Given the description of an element on the screen output the (x, y) to click on. 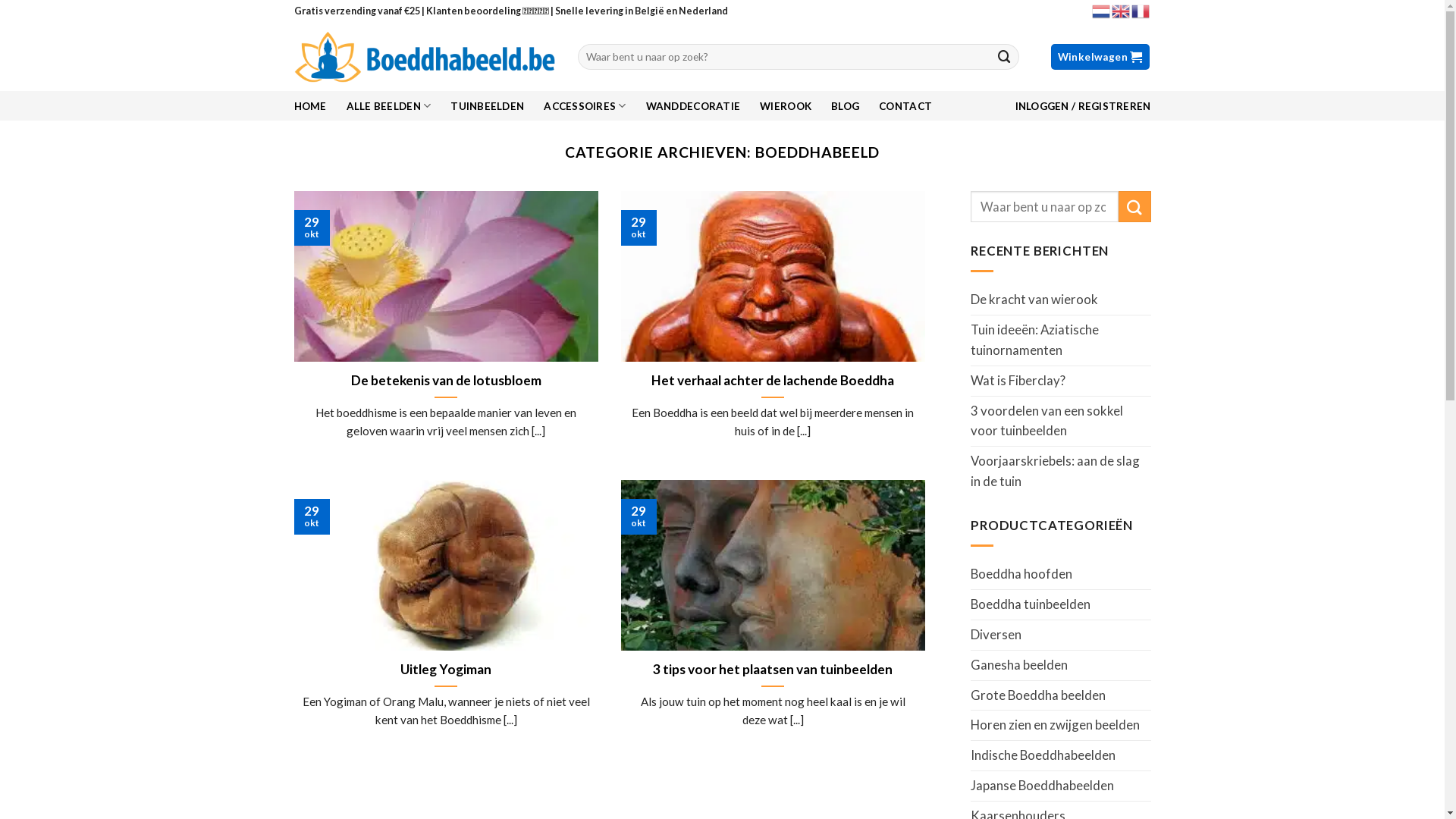
Diversen Element type: text (1060, 634)
Boeddha hoofden Element type: text (1060, 574)
Ganesha beelden Element type: text (1060, 665)
Japanse Boeddhabeelden Element type: text (1060, 785)
English Element type: hover (1121, 9)
Het verhaal achter de lachende Boeddha Element type: text (772, 380)
WANDDECORATIE Element type: text (693, 105)
Winkelwagen Element type: text (1100, 56)
Wat is Fiberclay? Element type: text (1017, 380)
WIEROOK Element type: text (785, 105)
Horen zien en zwijgen beelden Element type: text (1060, 725)
Dutch Element type: hover (1101, 9)
De betekenis van de lotusbloem Element type: text (446, 380)
French Element type: hover (1141, 9)
Grote Boeddha beelden Element type: text (1060, 695)
Indische Boeddhabeelden Element type: text (1060, 755)
ACCESSOIRES Element type: text (584, 105)
Voorjaarskriebels: aan de slag in de tuin Element type: text (1060, 471)
TUINBEELDEN Element type: text (487, 105)
Boeddha tuinbeelden Element type: text (1060, 604)
ALLE BEELDEN Element type: text (388, 105)
CONTACT Element type: text (904, 105)
INLOGGEN / REGISTREREN Element type: text (1083, 105)
BLOG Element type: text (845, 105)
Uitleg Yogiman Element type: text (445, 669)
3 tips voor het plaatsen van tuinbeelden Element type: text (772, 669)
3 voordelen van een sokkel voor tuinbeelden Element type: text (1060, 421)
Zoeken Element type: text (1004, 56)
HOME Element type: text (310, 105)
De kracht van wierook Element type: text (1034, 299)
